Given the description of an element on the screen output the (x, y) to click on. 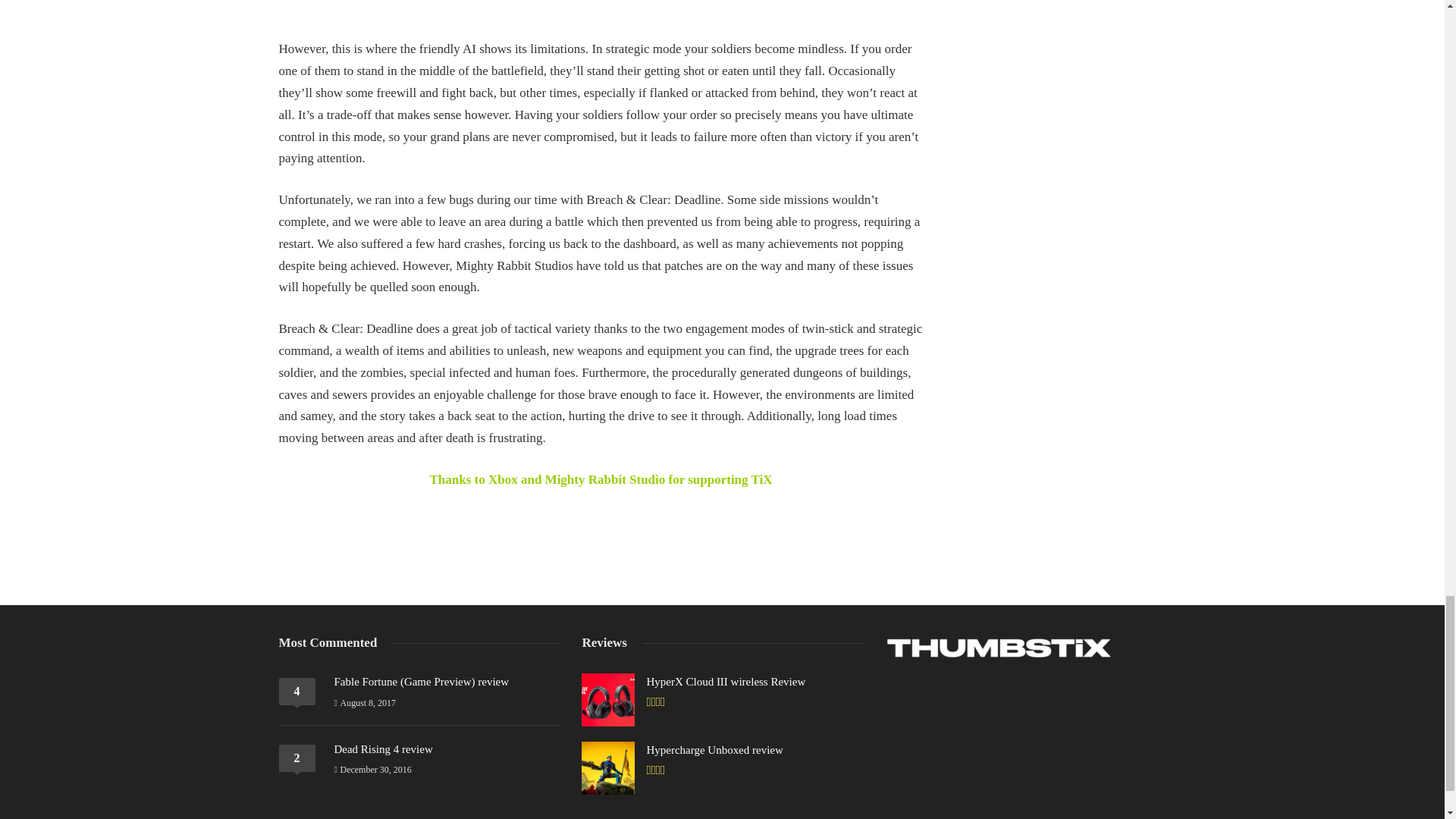
2 Comments (297, 758)
4 Comments (297, 691)
Hypercharge Unboxed review (714, 750)
HyperX Cloud III wireless Review (725, 682)
December 30, 2016 at 8:06 pm (371, 769)
2 (297, 758)
4 (297, 691)
August 8, 2017 at 8:26 pm (364, 702)
Dead Rising 4 review (382, 749)
